Given the description of an element on the screen output the (x, y) to click on. 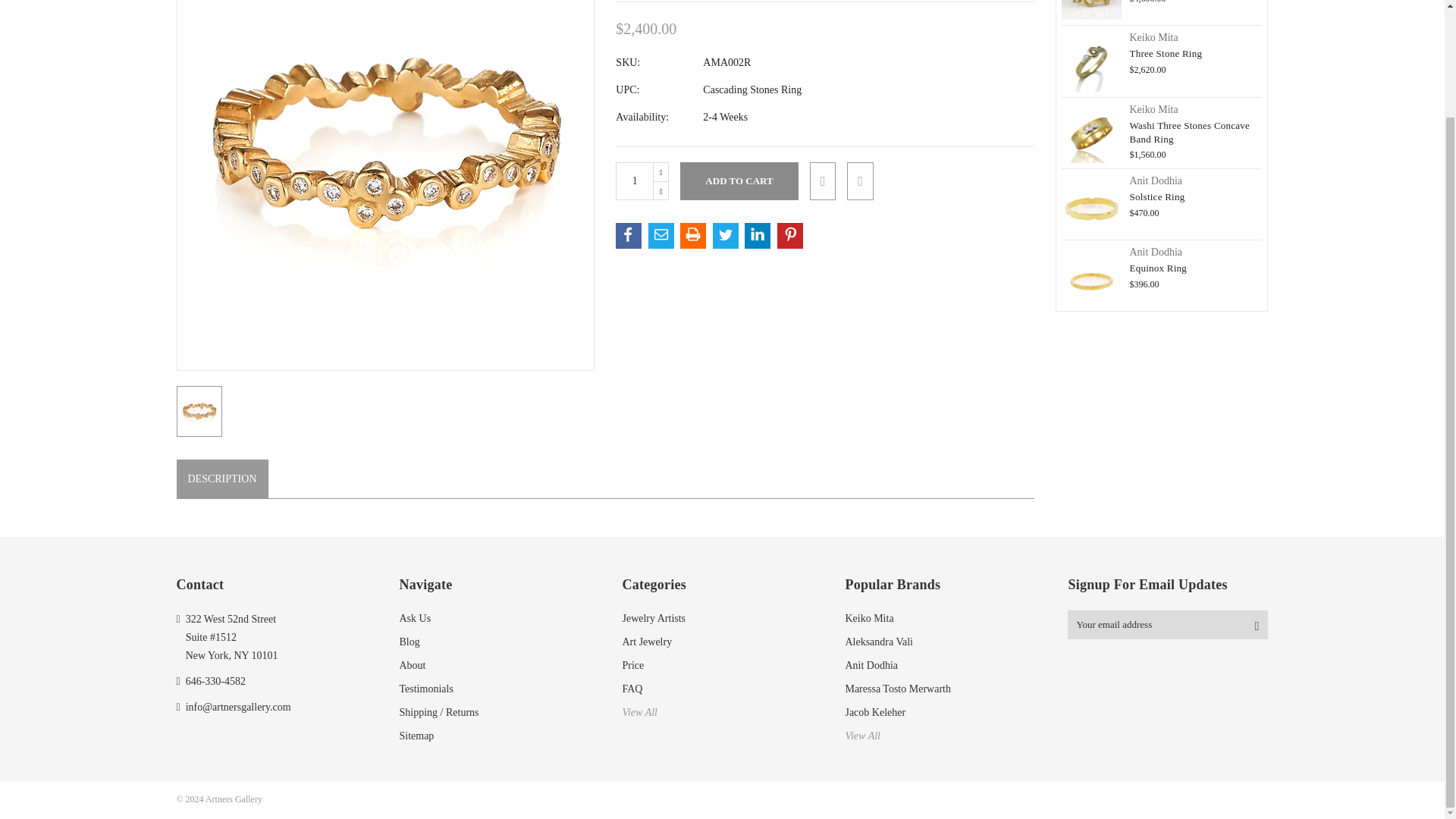
Add to Cart (738, 180)
1 (634, 180)
